Given the description of an element on the screen output the (x, y) to click on. 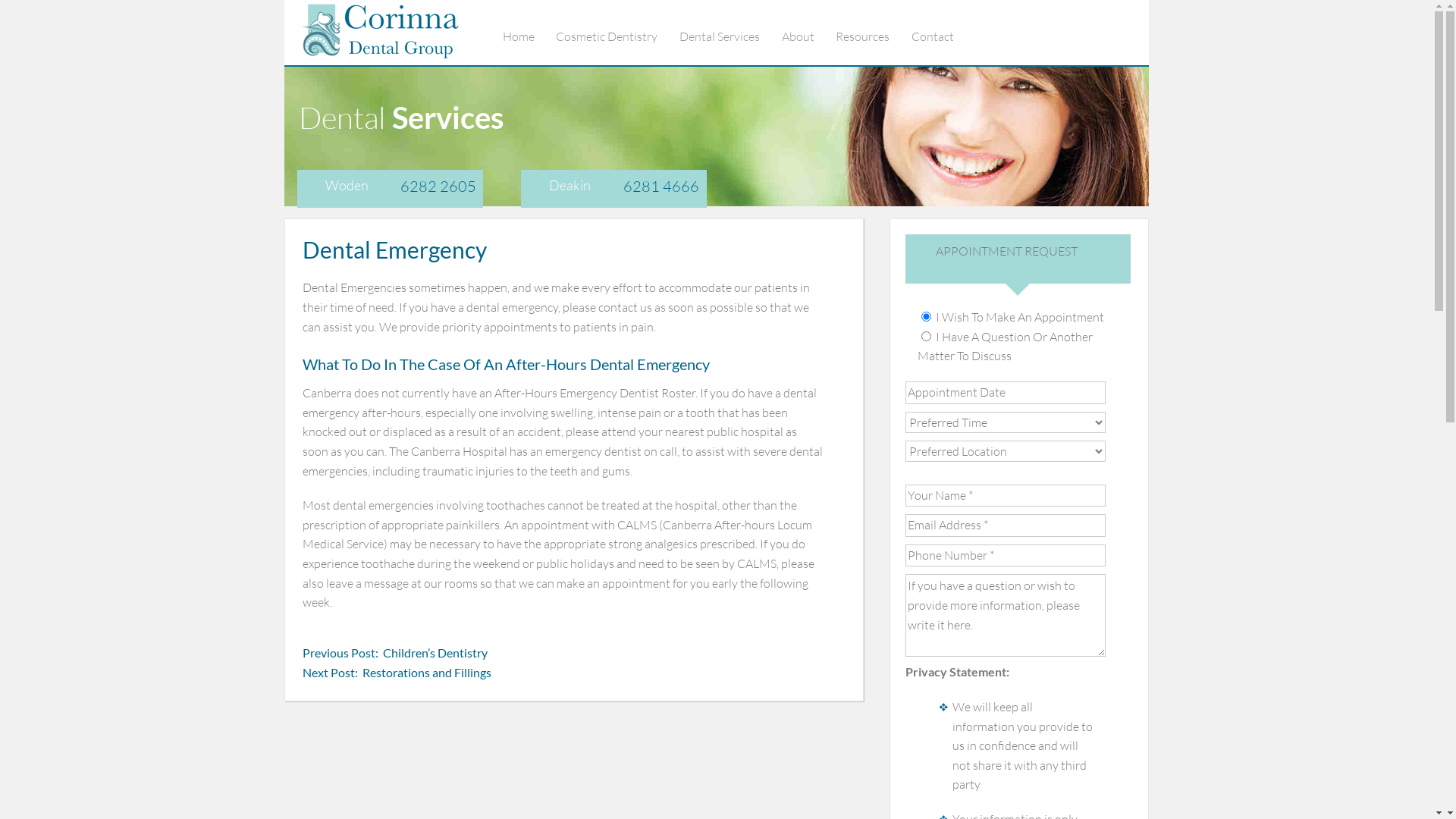
Next Post:  Restorations and Fillings Element type: text (396, 672)
6281 4666 Element type: text (661, 185)
Resources Element type: text (872, 35)
Home Element type: text (528, 35)
Dental Services Element type: text (729, 35)
Cosmetic Dentistry Element type: text (616, 35)
Contact Element type: text (942, 35)
About Element type: text (807, 35)
6282 2605 Element type: text (438, 185)
